Given the description of an element on the screen output the (x, y) to click on. 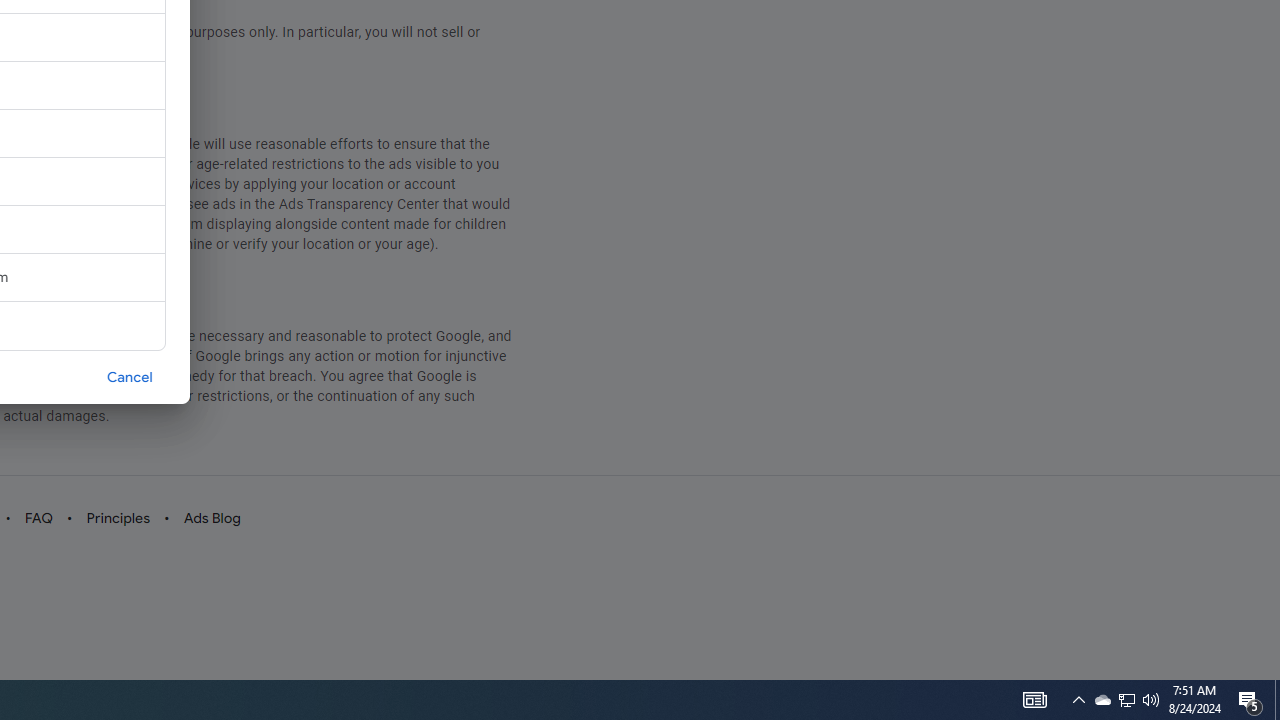
Ads Blog (211, 518)
Principles (117, 518)
Cancel (129, 376)
